Given the description of an element on the screen output the (x, y) to click on. 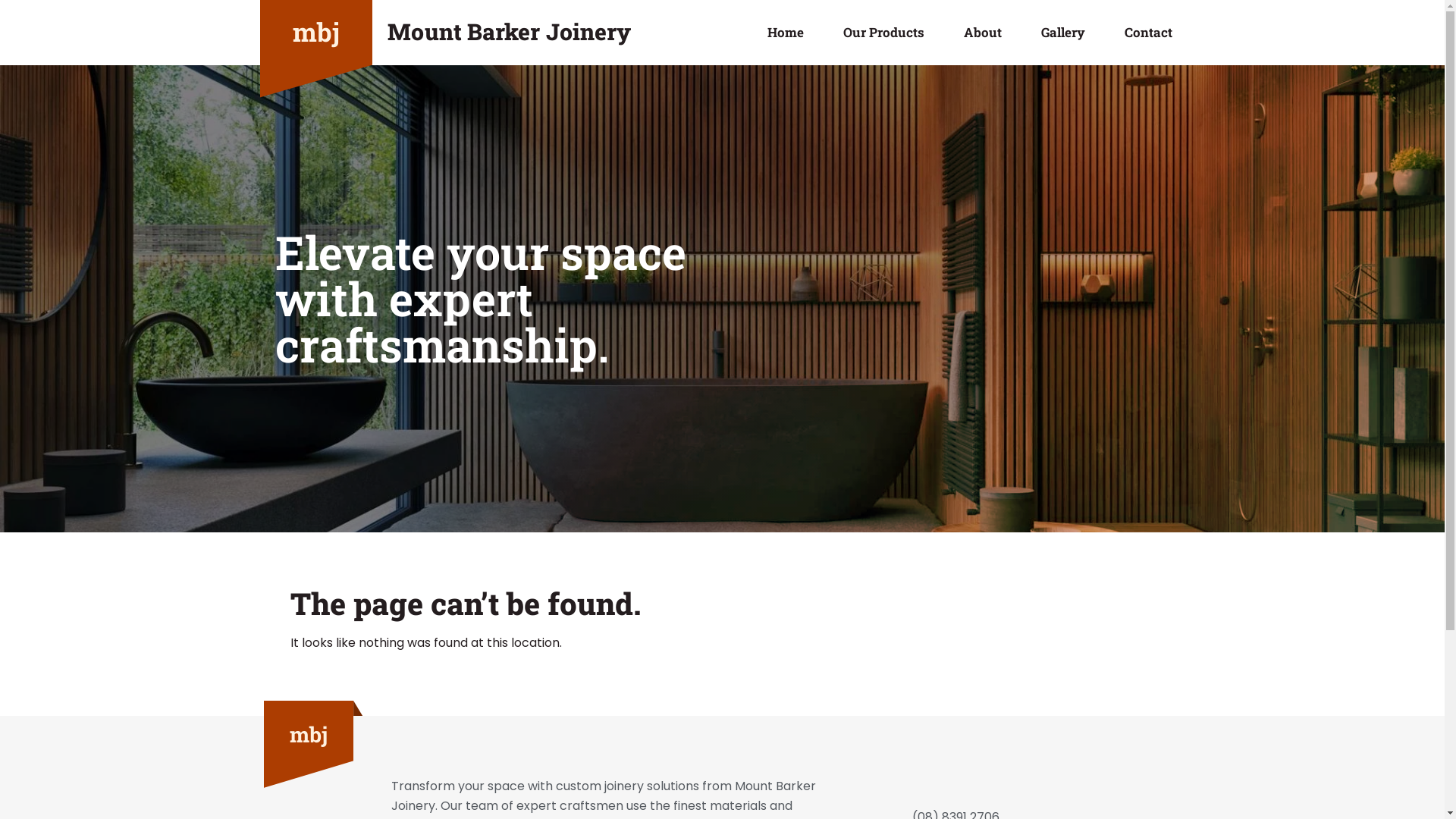
About Element type: text (982, 32)
Contact Element type: text (1148, 32)
Gallery Element type: text (1062, 32)
Our Products Element type: text (883, 32)
Home Element type: text (785, 32)
